Given the description of an element on the screen output the (x, y) to click on. 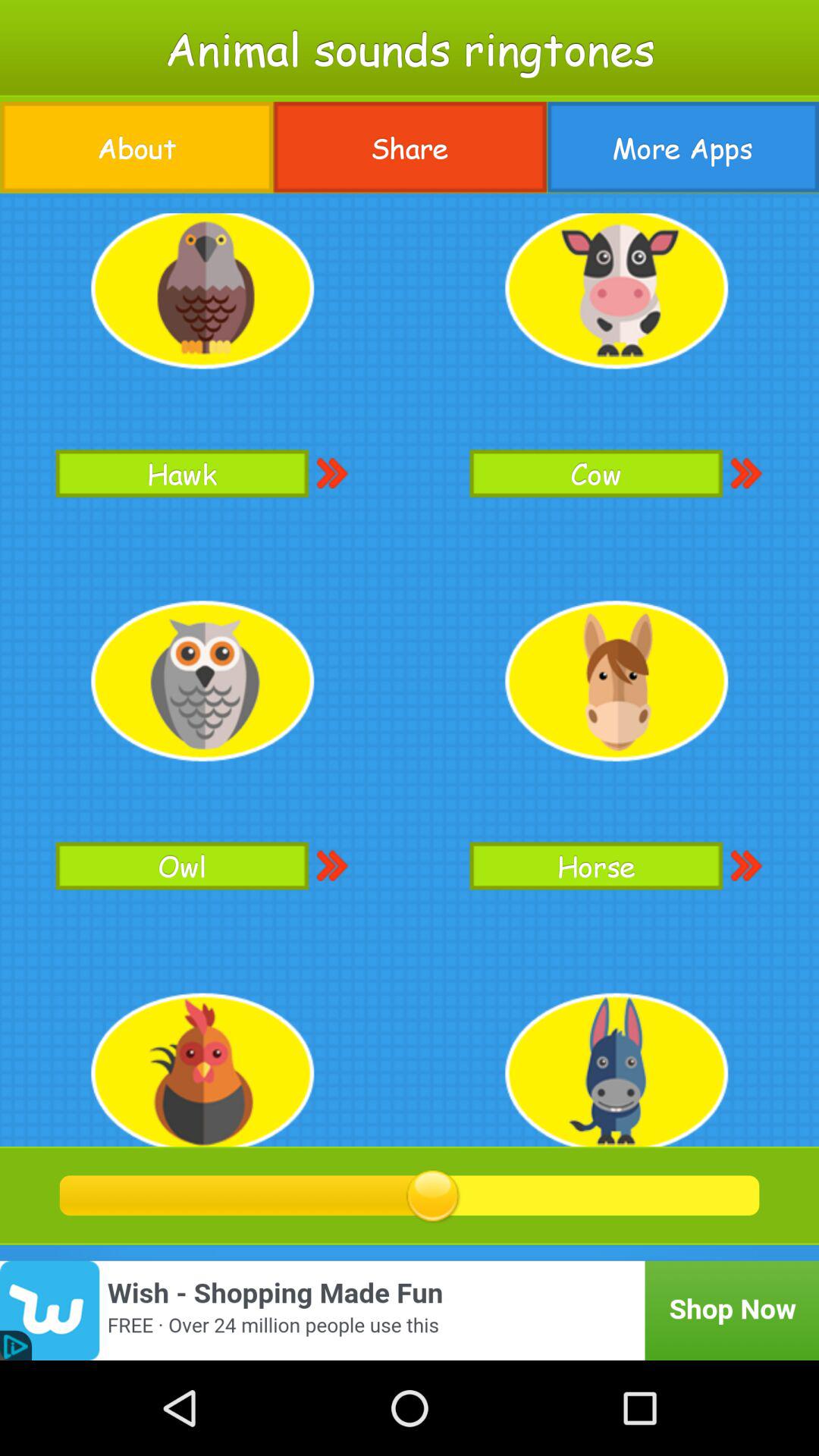
open hawk button (181, 473)
